Given the description of an element on the screen output the (x, y) to click on. 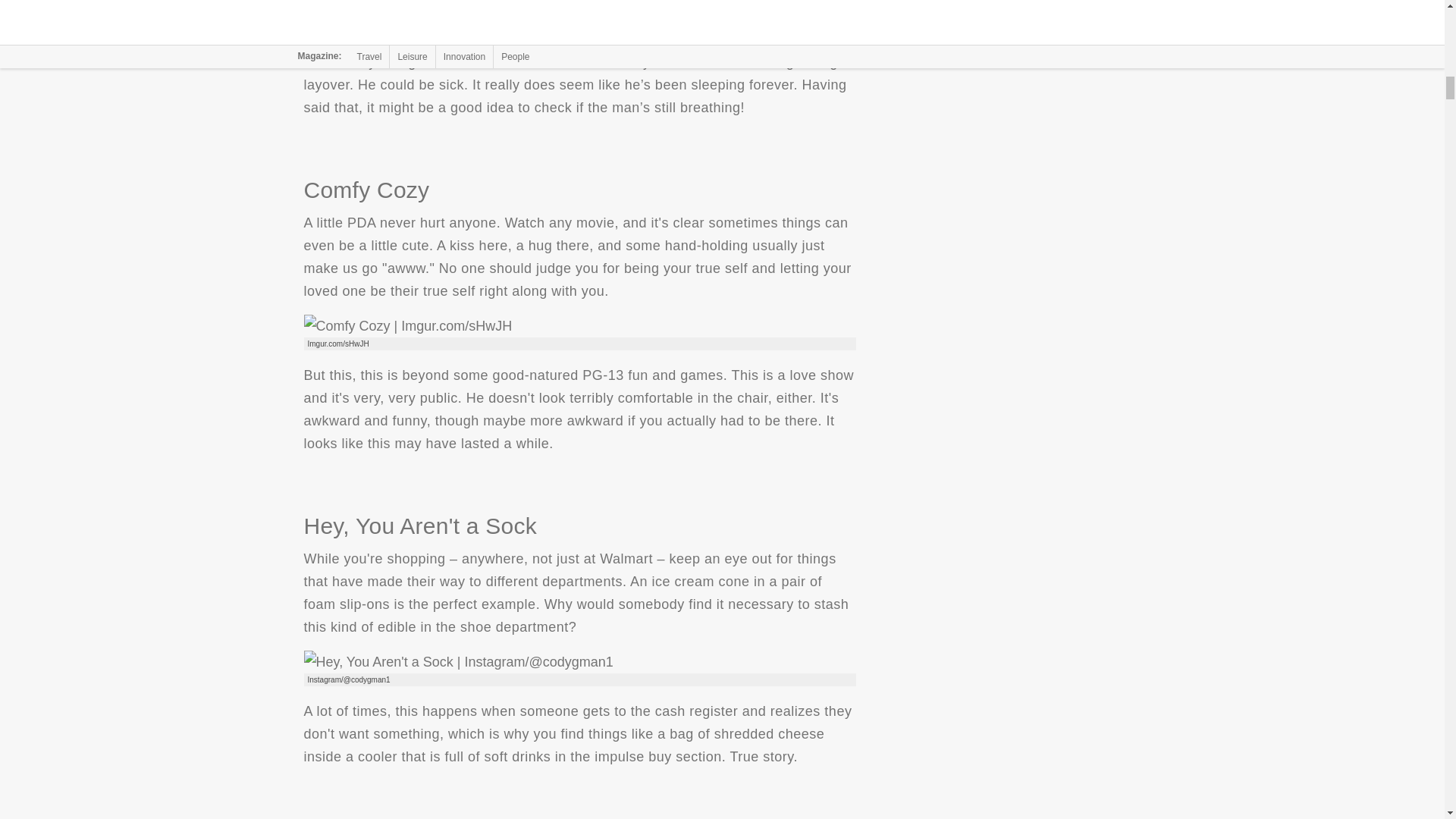
Hey, You Aren't a Sock (457, 661)
Grand Slumber Party for One (474, 12)
Comfy Cozy (407, 325)
